Given the description of an element on the screen output the (x, y) to click on. 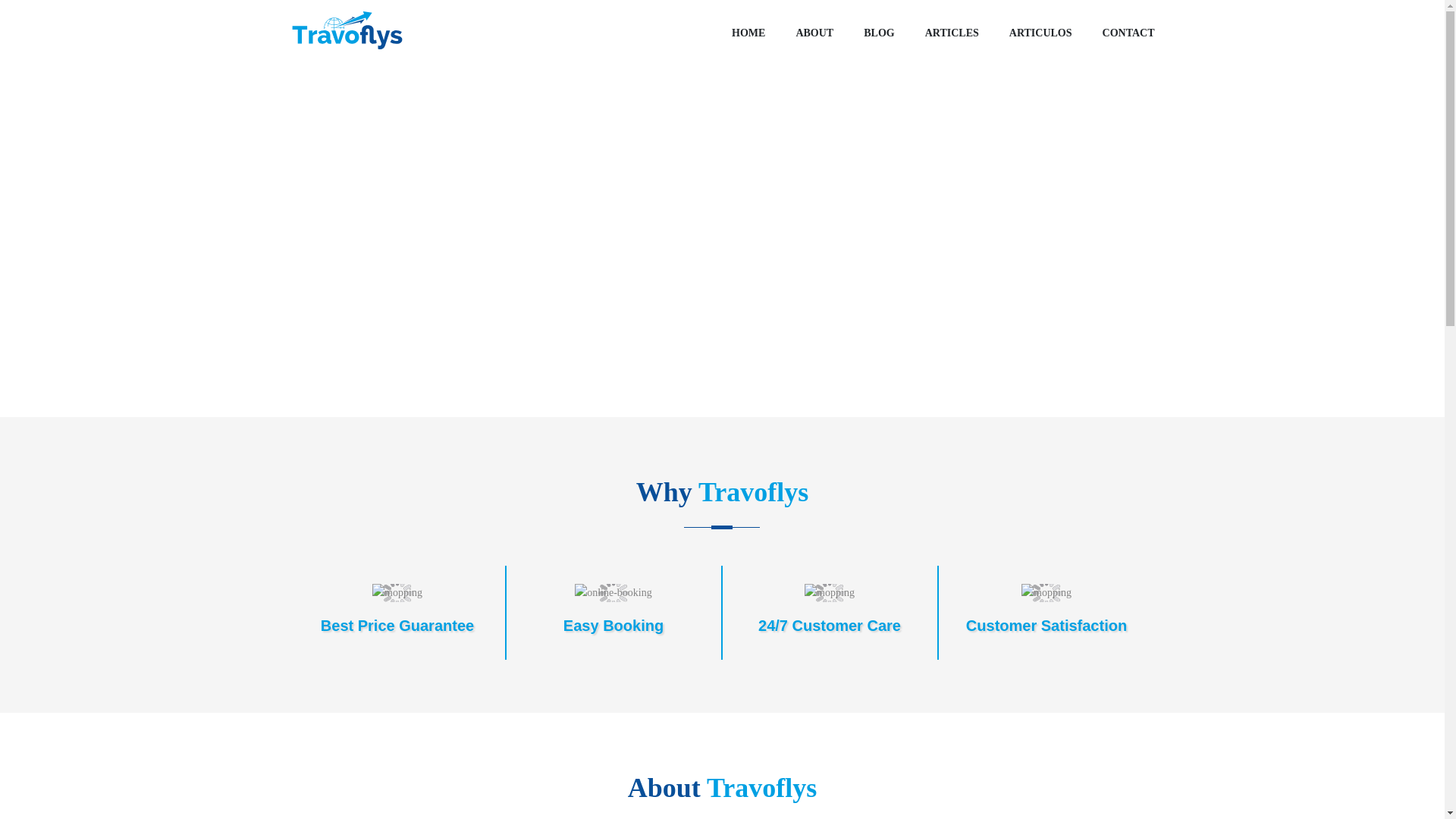
HOME (748, 32)
CONTACT (1128, 32)
BLOG (878, 32)
ARTICULOS (1040, 32)
ARTICLES (951, 32)
ABOUT (813, 32)
